Given the description of an element on the screen output the (x, y) to click on. 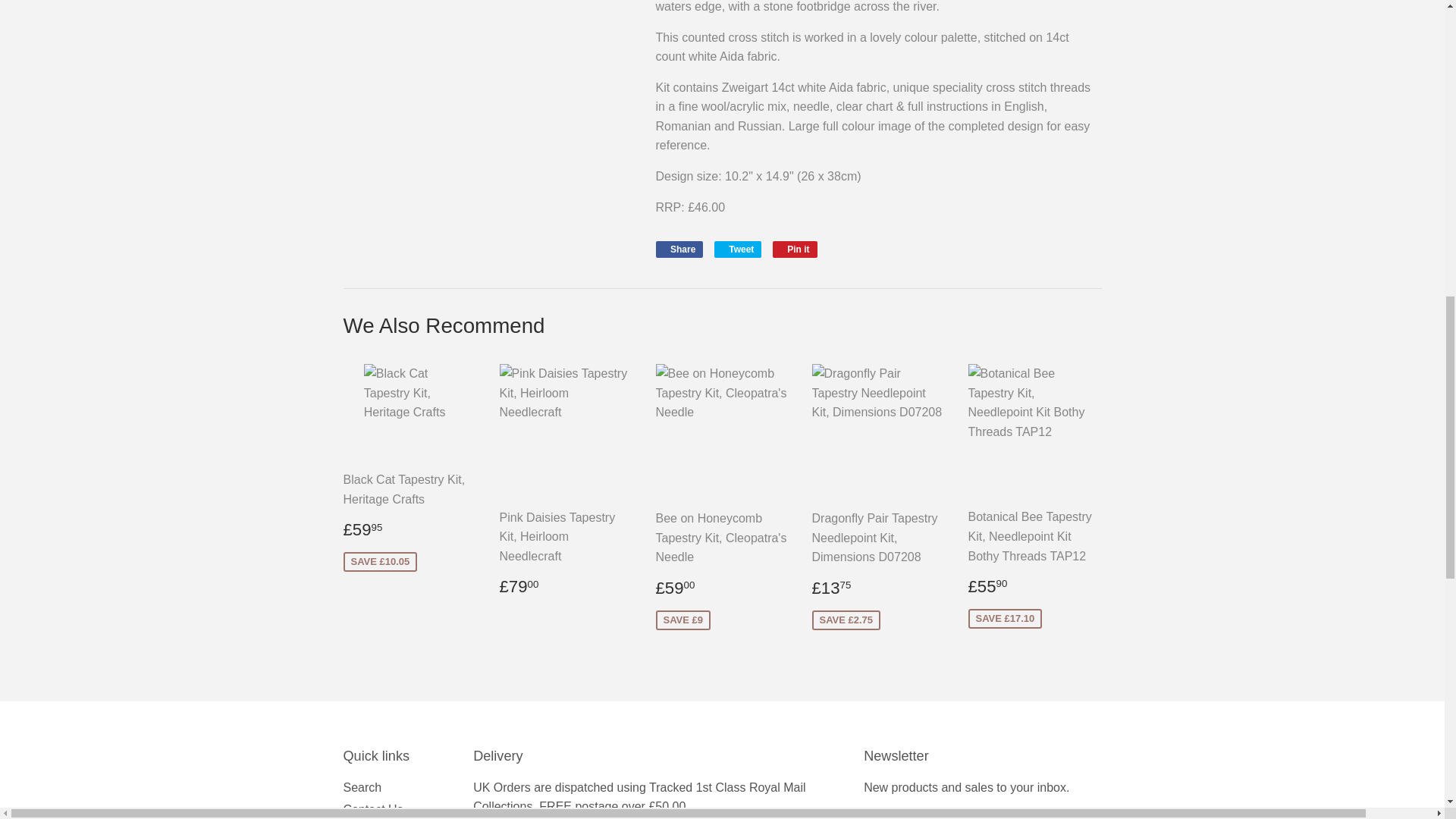
Tweet on Twitter (737, 248)
Share on Facebook (679, 248)
Pin on Pinterest (794, 248)
